Given the description of an element on the screen output the (x, y) to click on. 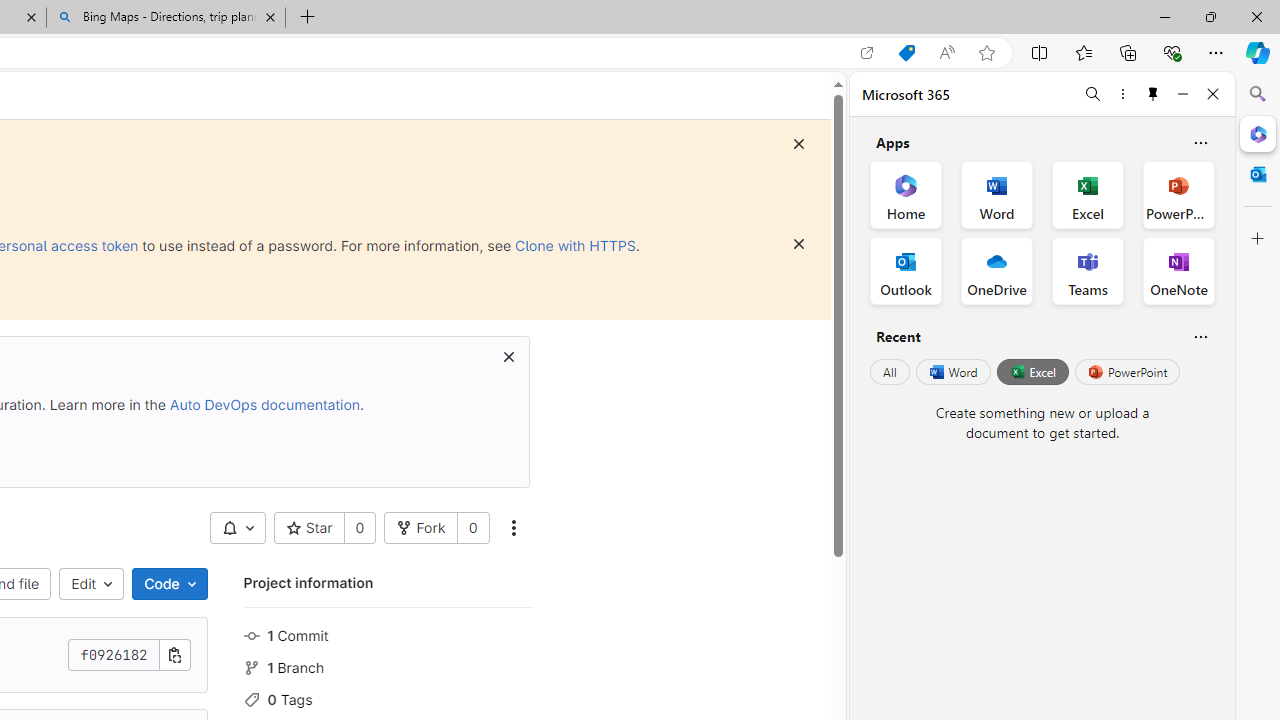
PowerPoint Office App (1178, 194)
1 Commit (387, 633)
Excel Office App (1087, 194)
0 Tags (387, 698)
0 Tags (387, 698)
Excel (1031, 372)
Fork (421, 527)
Class: s16 icon gl-mr-3 gl-text-gray-500 (251, 699)
